Given the description of an element on the screen output the (x, y) to click on. 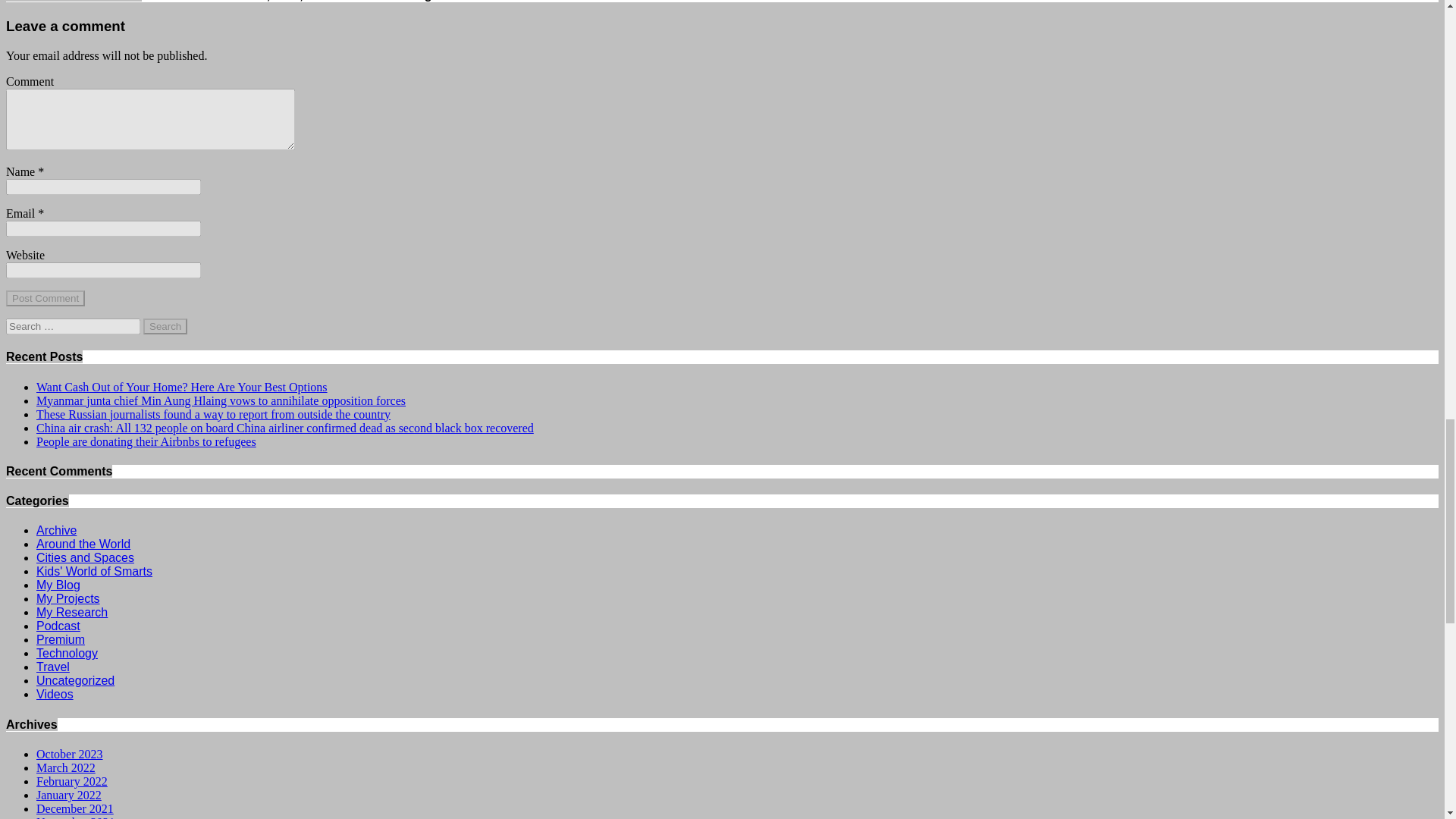
Search (164, 326)
Search (164, 326)
Post Comment (44, 298)
